Given the description of an element on the screen output the (x, y) to click on. 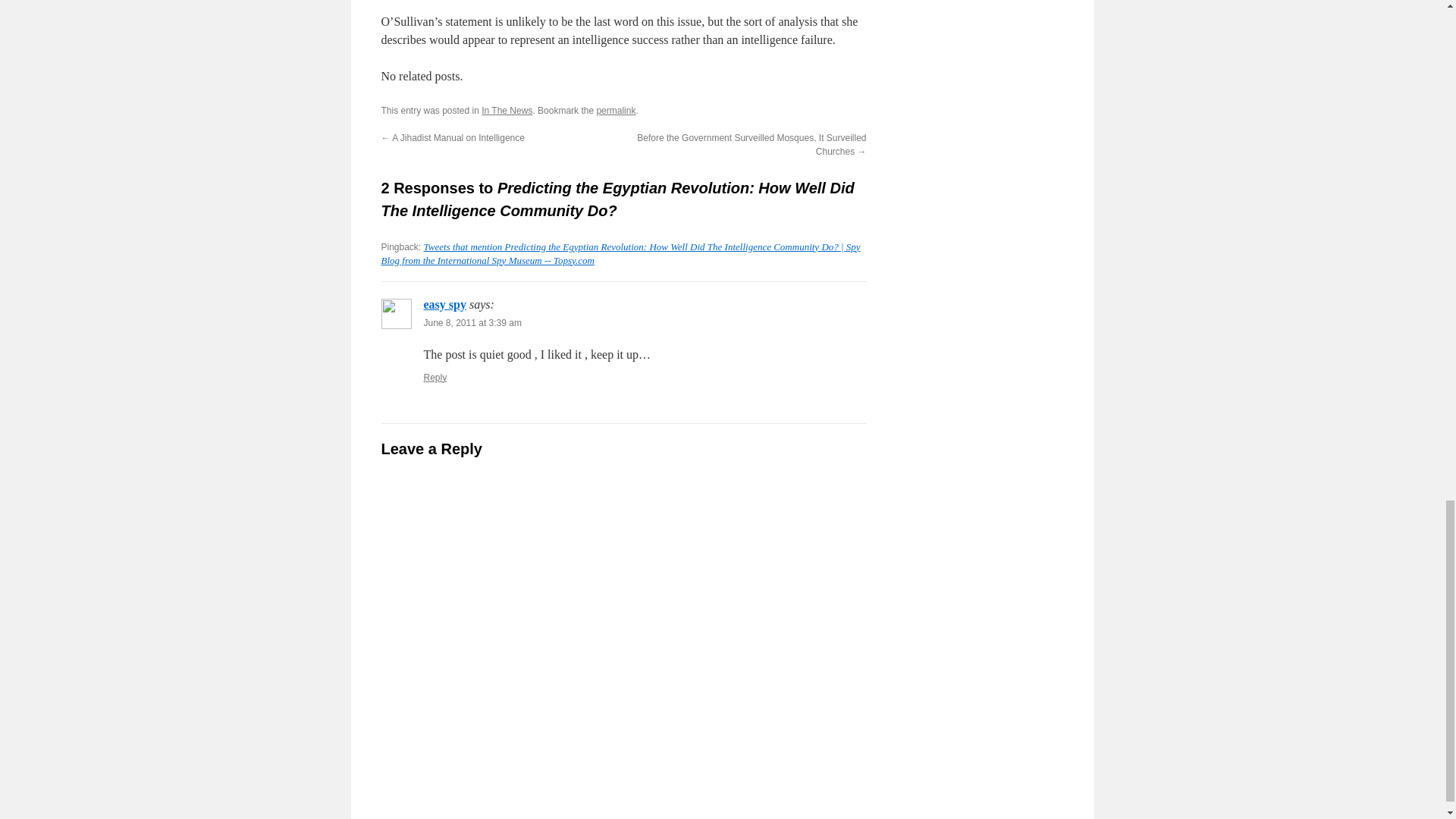
permalink (614, 110)
In The News (506, 110)
Reply (434, 377)
June 8, 2011 at 3:39 am (472, 322)
easy spy (444, 304)
